Given the description of an element on the screen output the (x, y) to click on. 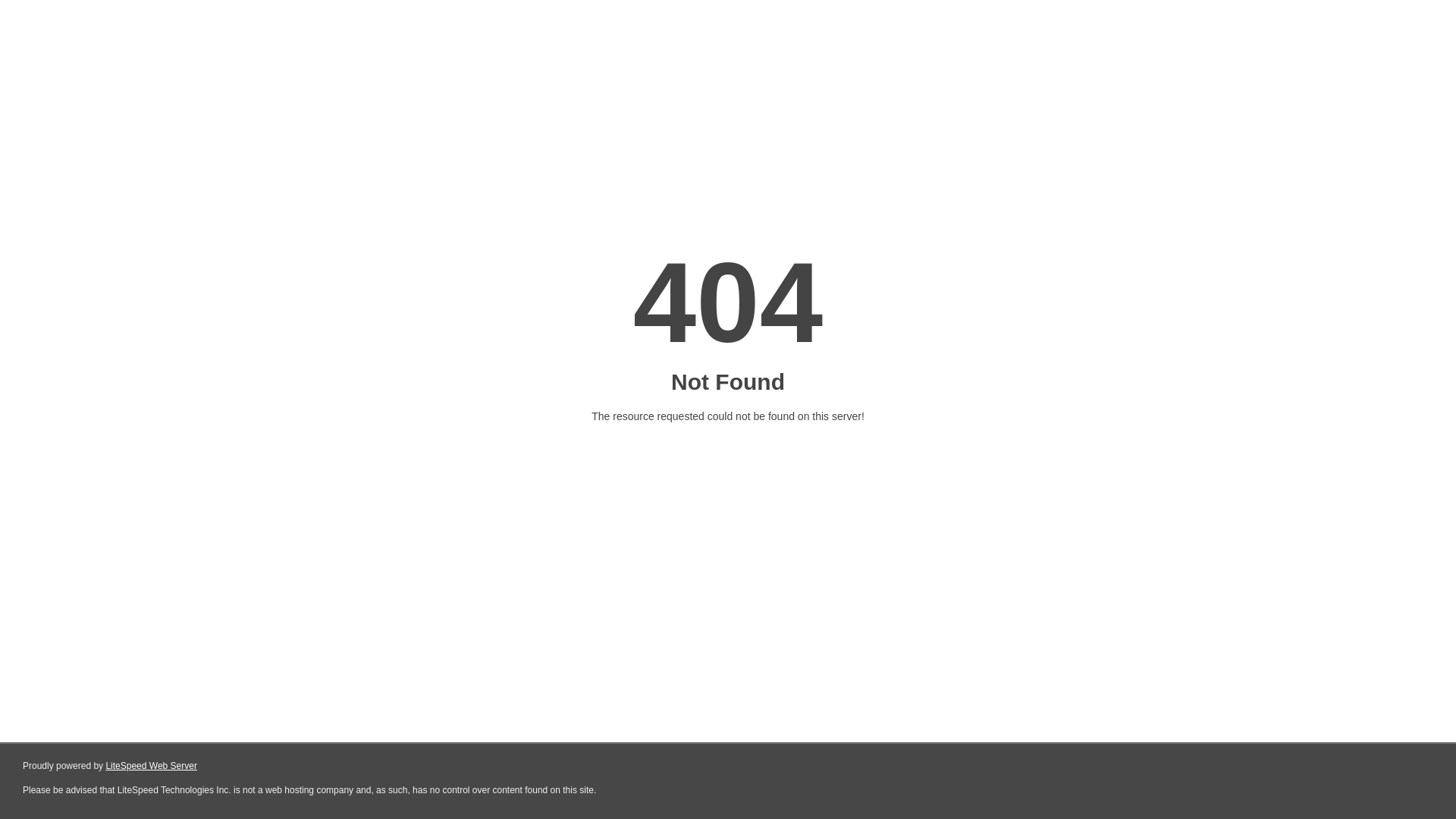
LiteSpeed Web Server Element type: text (151, 765)
